Given the description of an element on the screen output the (x, y) to click on. 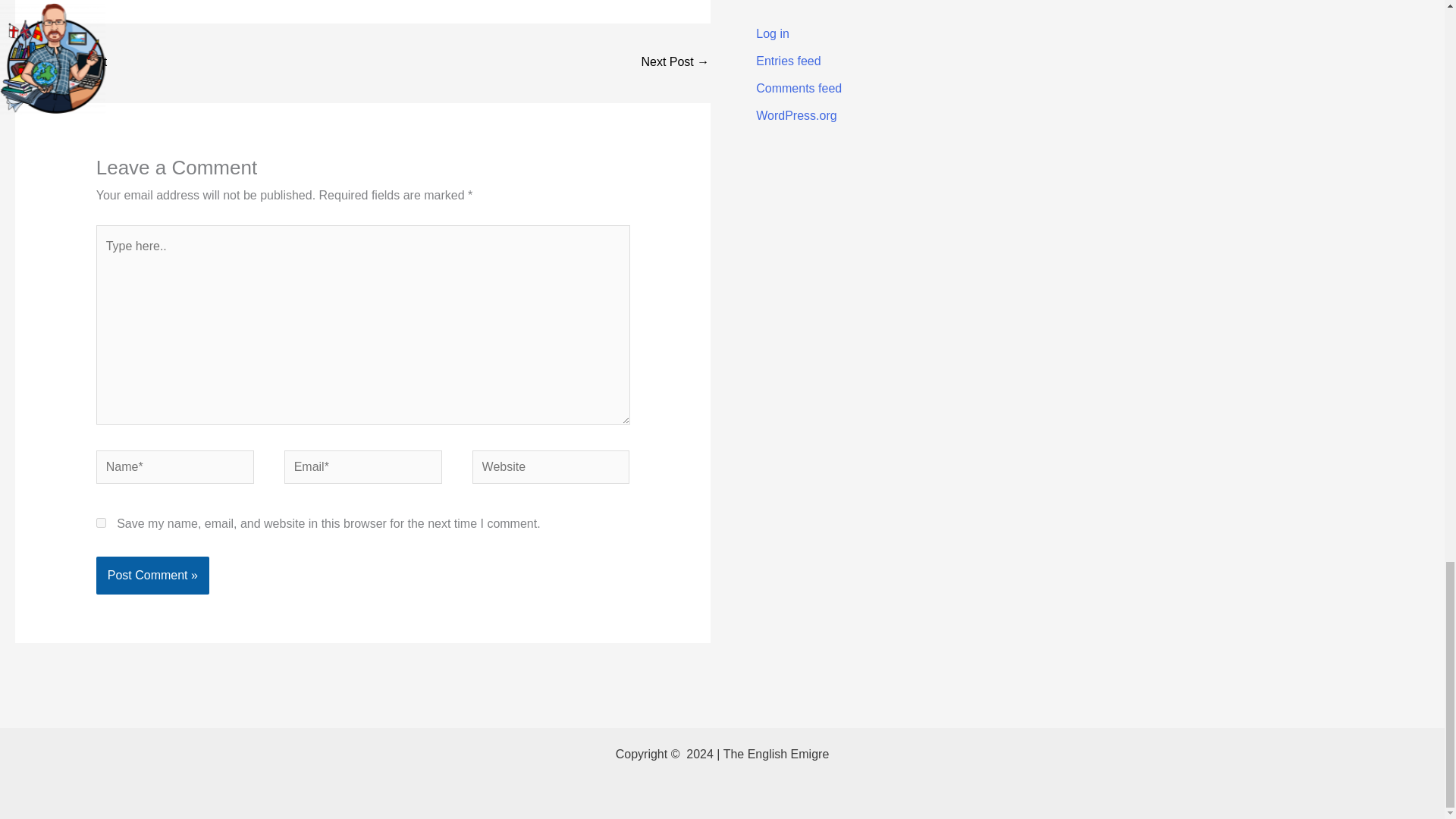
yes (101, 522)
